Given the description of an element on the screen output the (x, y) to click on. 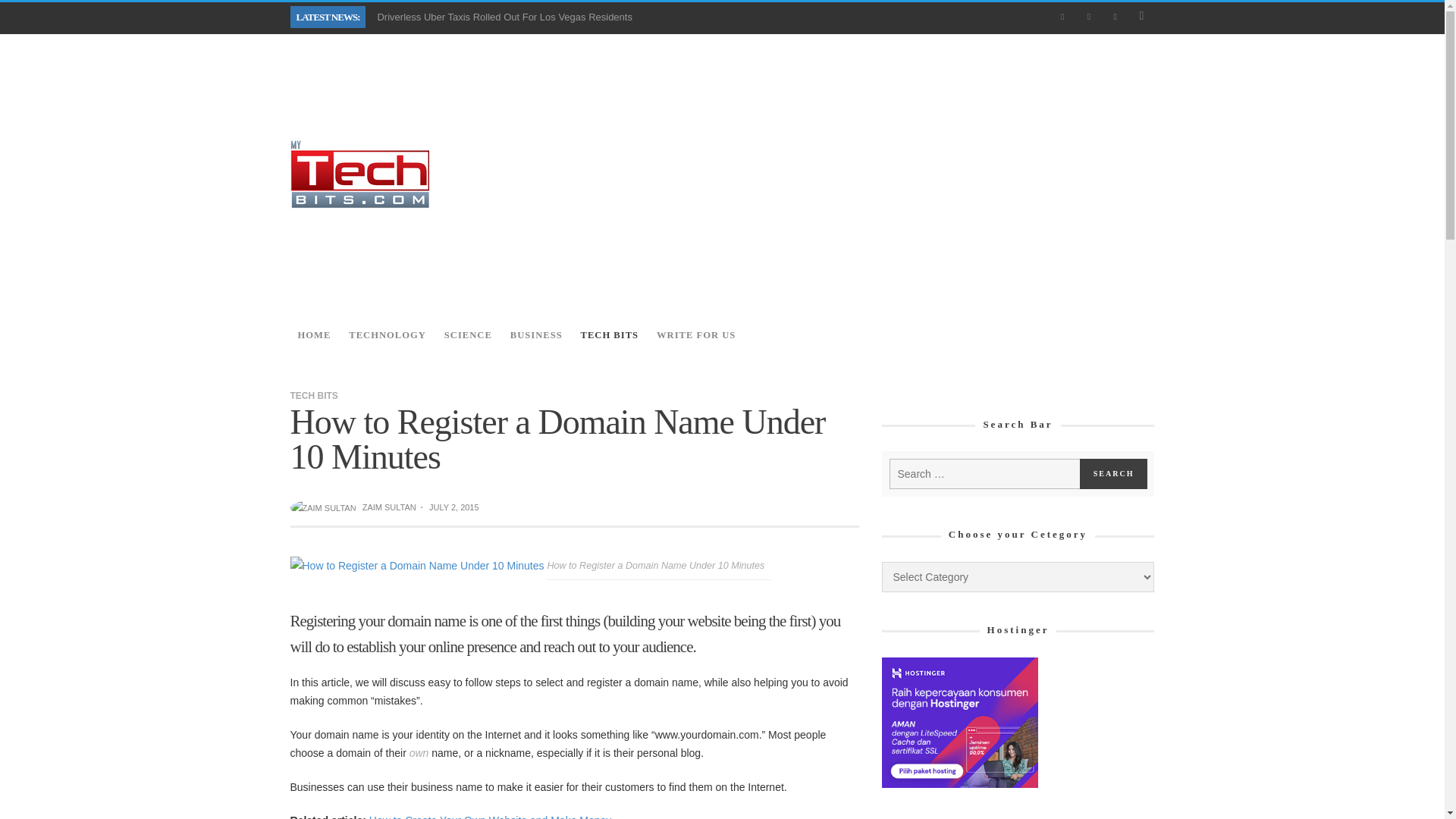
Search (1114, 473)
Twitter (1114, 16)
HOME (313, 335)
TECHNOLOGY (386, 335)
Advertisement (878, 173)
RSS (1089, 16)
How to Register a Domain Name Under 10 Minutes (418, 564)
Driverless Uber Taxis Rolled Out For Los Vegas Residents (504, 16)
Search (1114, 473)
Facebook (1062, 16)
